Given the description of an element on the screen output the (x, y) to click on. 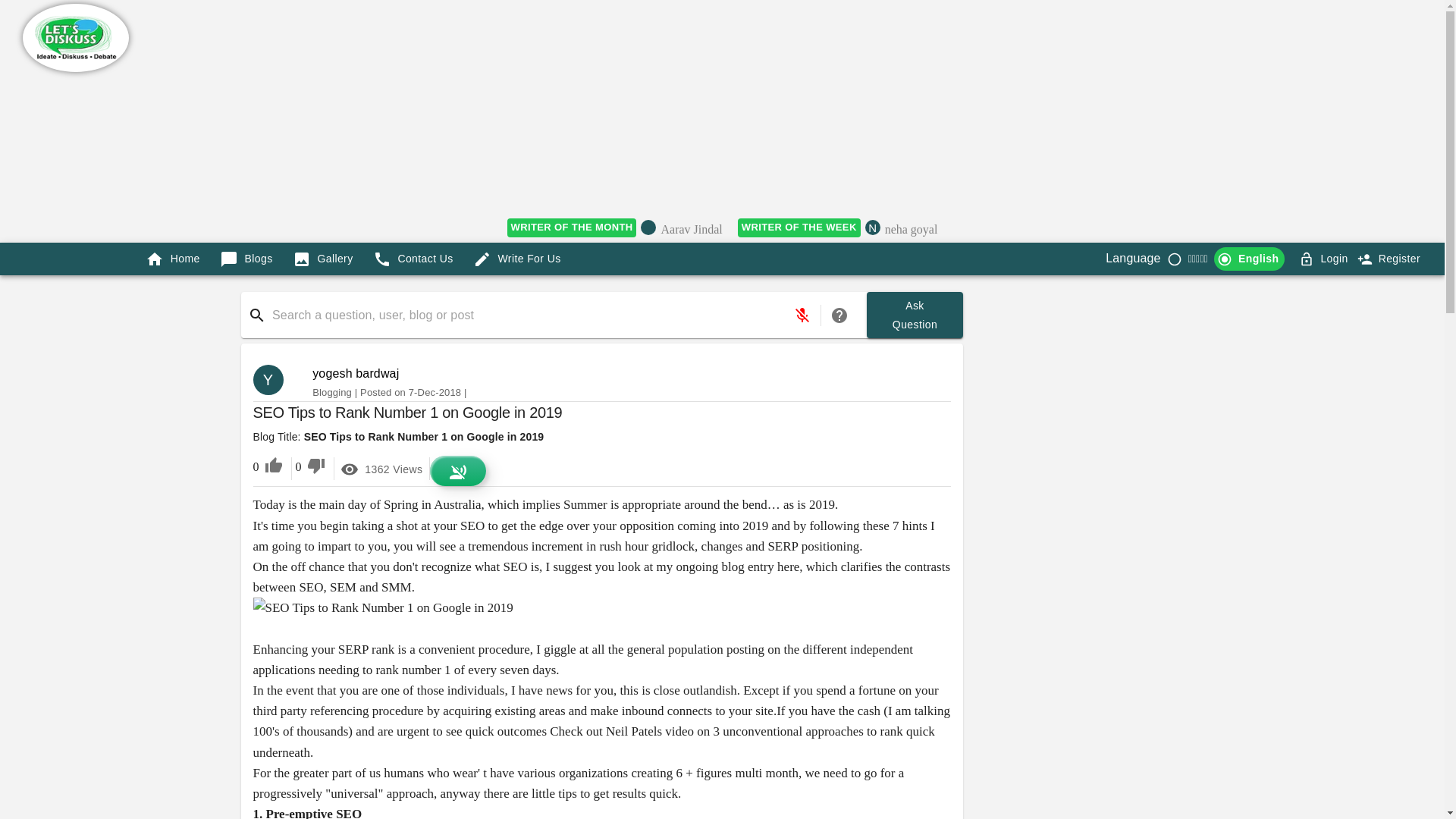
Login (1334, 258)
Y (274, 379)
yogesh bardwaj (355, 373)
WRITER OF THE WEEK (799, 227)
  1362 Views (380, 469)
 Blogs (246, 258)
Official Letsdiskuss Logo (75, 37)
 Contact Us (413, 258)
neha goyal (911, 231)
 Gallery (322, 258)
English (1249, 259)
Register (914, 314)
Login (1390, 258)
